Given the description of an element on the screen output the (x, y) to click on. 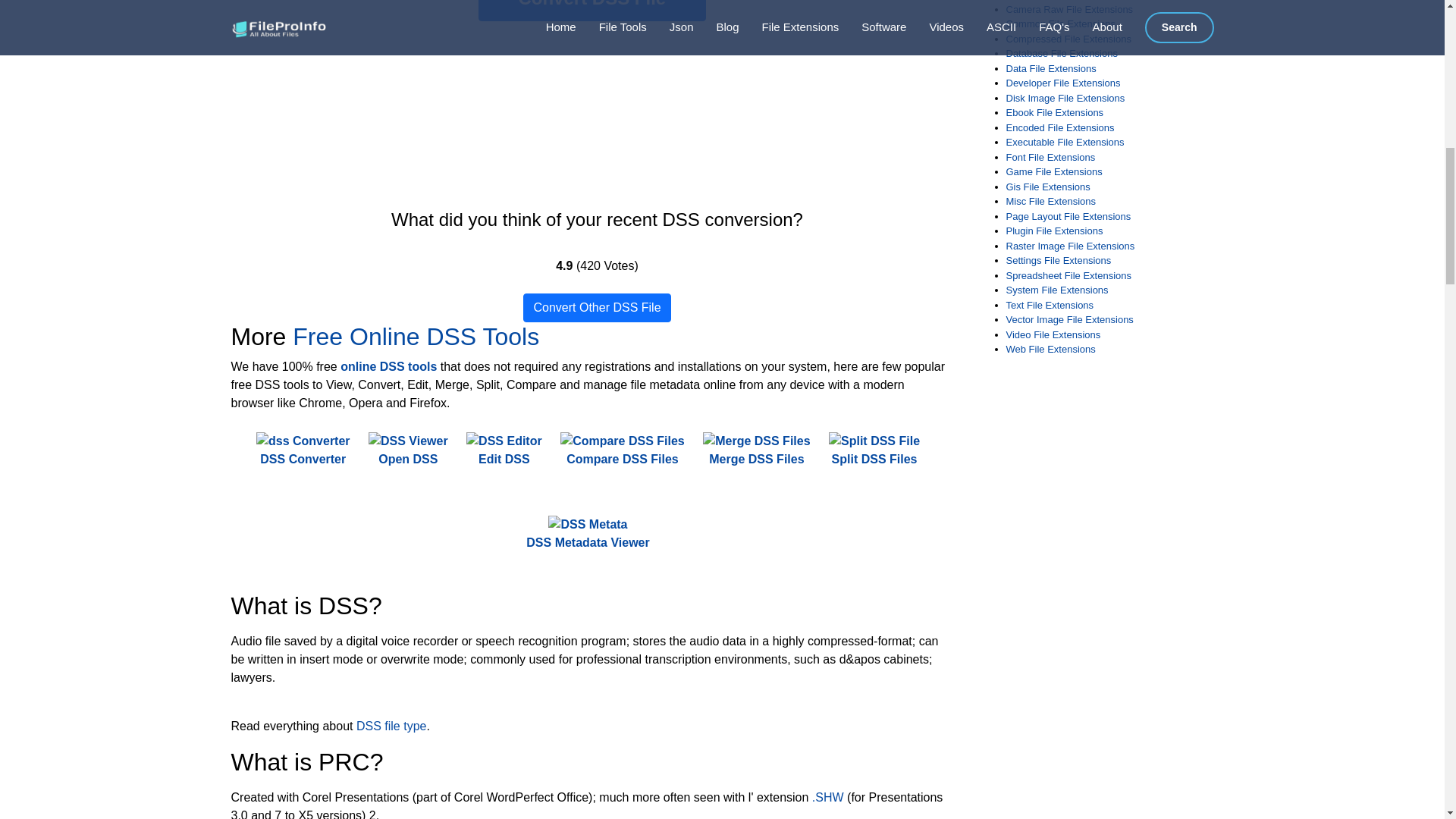
Split DSS Files (874, 450)
Edit DSS (503, 450)
Convert DSS File (592, 10)
DSS Metadata Viewer (587, 533)
Merge DSS Files (756, 450)
Compare DSS Files (622, 450)
Convert Other DSS File (595, 307)
DSS Converter (303, 450)
.SHW (828, 797)
online DSS tools (388, 366)
Free Online DSS Tools (415, 336)
Browse all free online DSS tools (388, 366)
free online dss tools (415, 336)
Open DSS (408, 450)
DSS file type (391, 725)
